Given the description of an element on the screen output the (x, y) to click on. 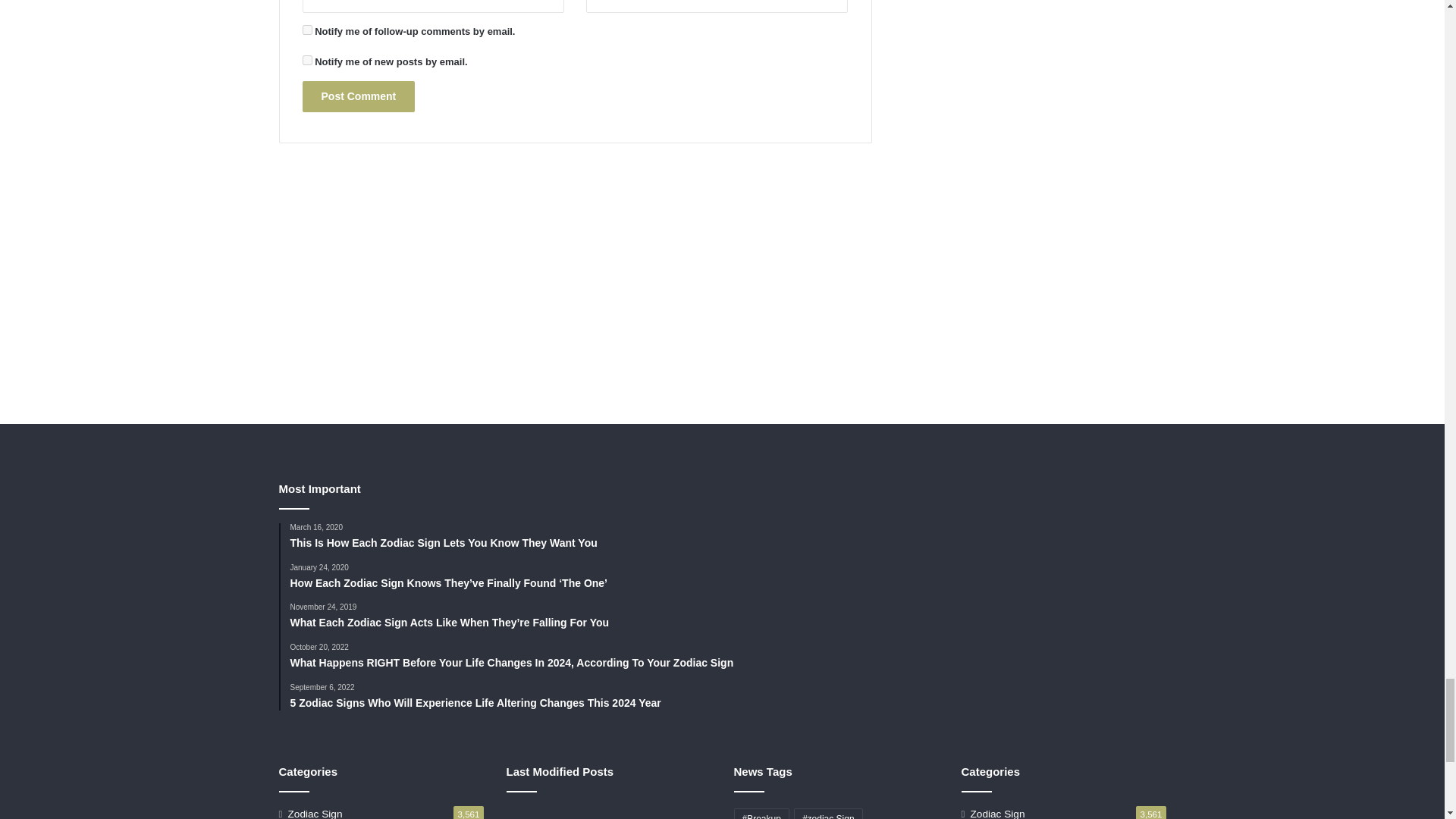
subscribe (306, 30)
subscribe (306, 60)
Post Comment (357, 96)
